Given the description of an element on the screen output the (x, y) to click on. 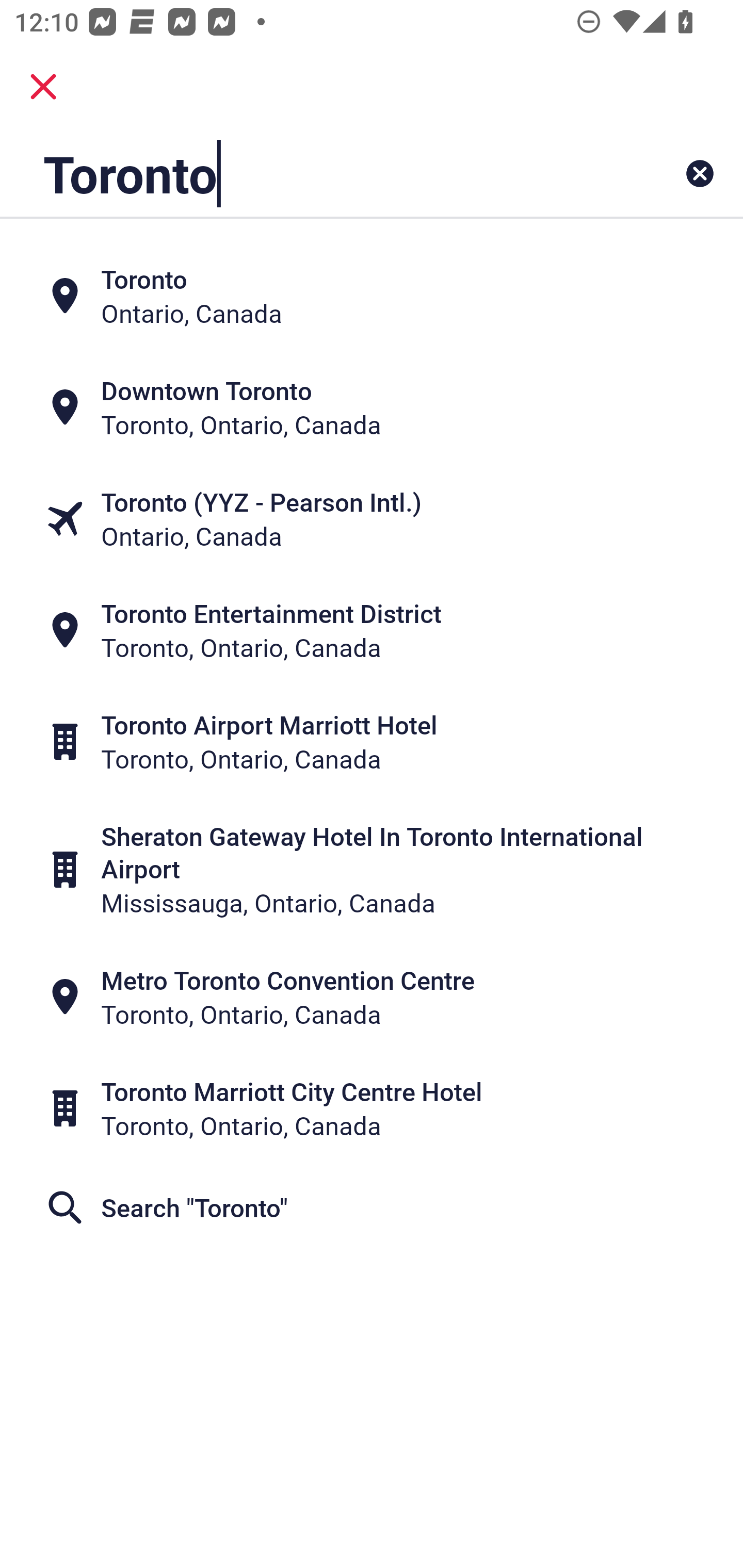
close. (43, 86)
Clear (699, 173)
Toronto (306, 173)
Toronto Ontario, Canada (371, 295)
Downtown Toronto Toronto, Ontario, Canada (371, 406)
Toronto (YYZ - Pearson Intl.) Ontario, Canada (371, 517)
Search "Toronto" (371, 1207)
